Given the description of an element on the screen output the (x, y) to click on. 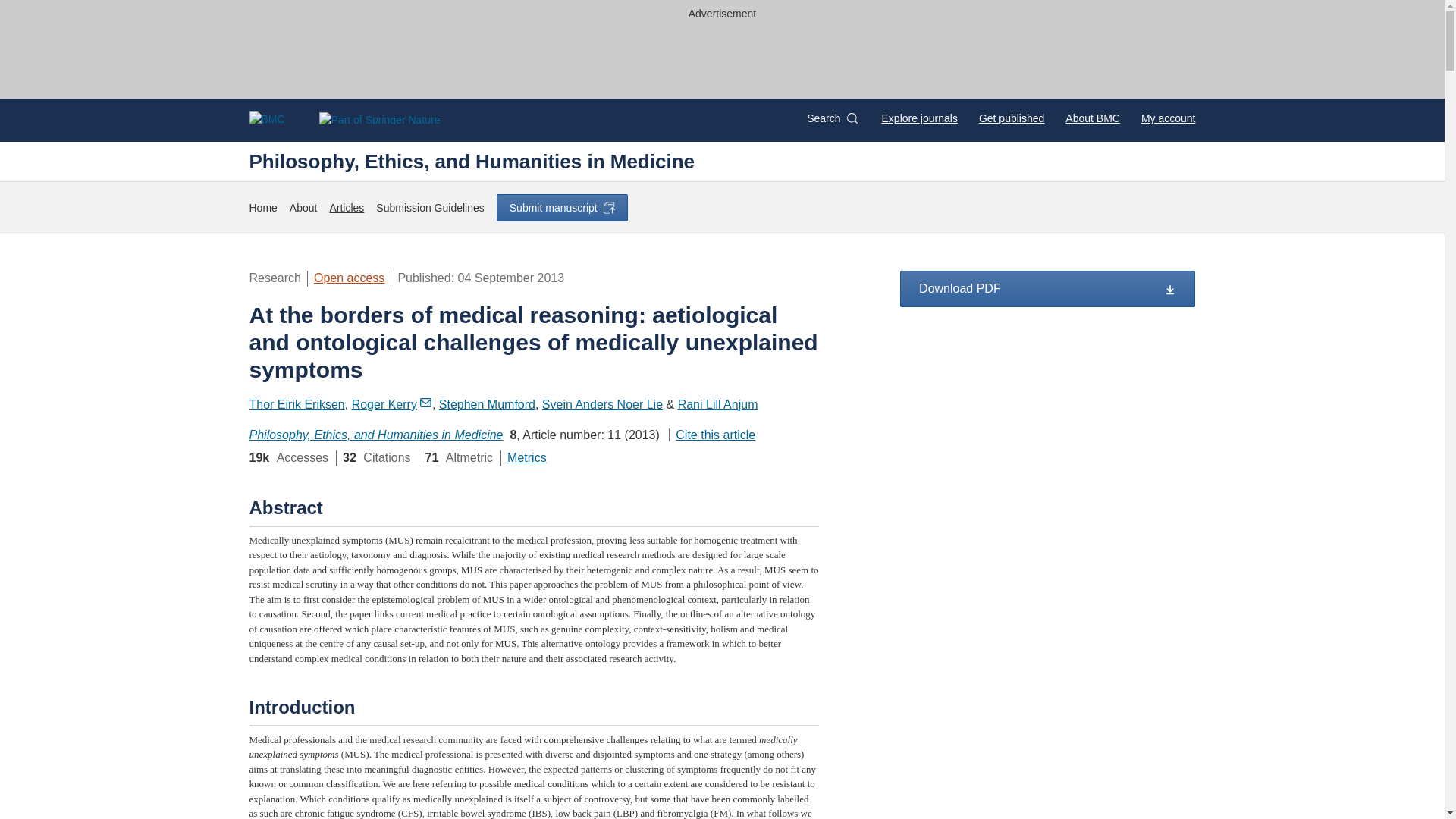
Submission Guidelines (429, 208)
Search (831, 118)
Home (262, 208)
Philosophy, Ethics, and Humanities in Medicine (375, 434)
About (303, 208)
Cite this article (711, 434)
About BMC (1092, 118)
Philosophy, Ethics, and Humanities in Medicine (471, 160)
Get published (1010, 118)
Explore journals (920, 118)
